Given the description of an element on the screen output the (x, y) to click on. 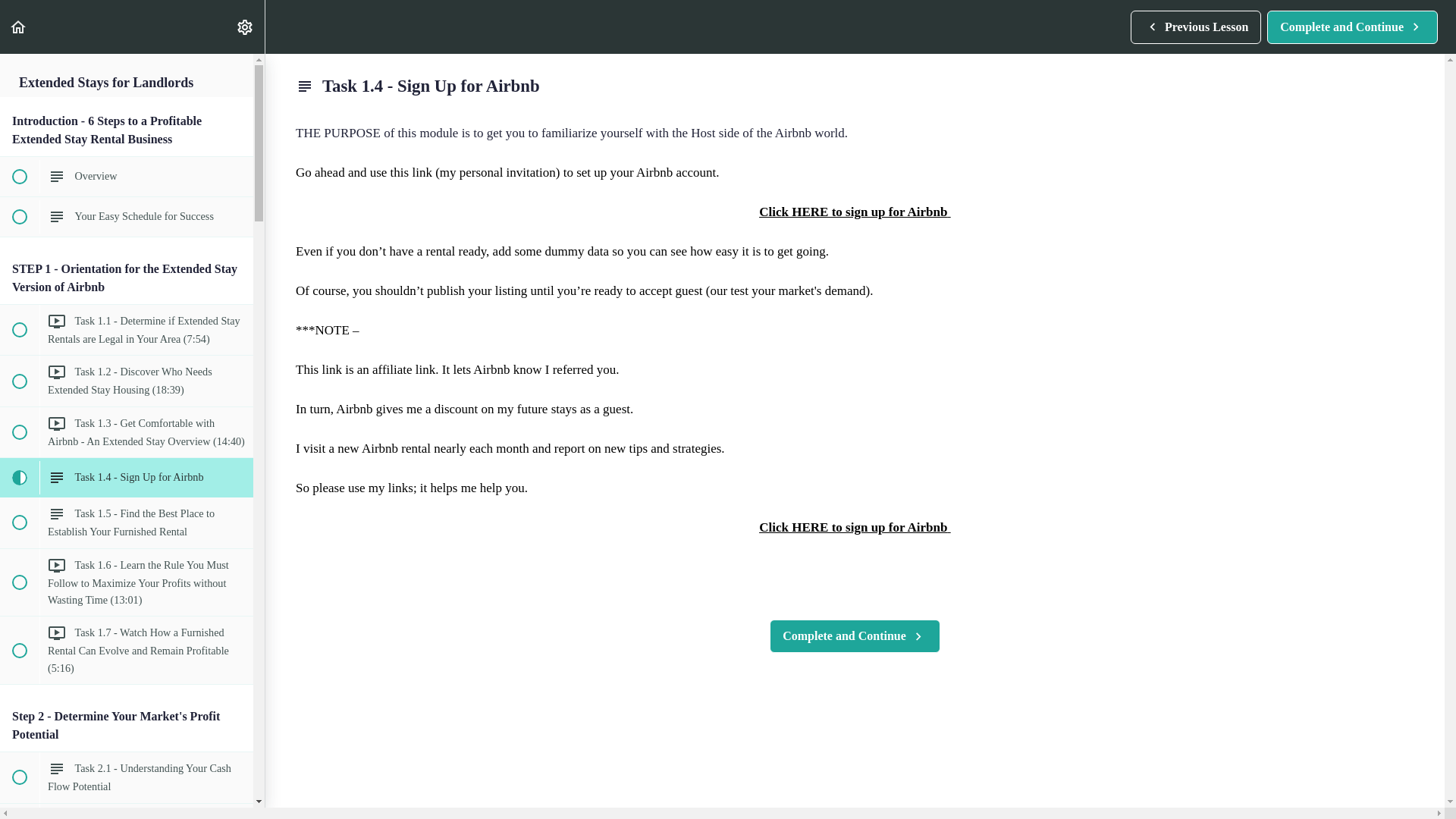
  Task 2.1 - Understanding Your Cash Flow Potential (126, 777)
  Overview (126, 176)
Back to course curriculum (17, 27)
  Your Easy Schedule for Success (1352, 27)
  Task 1.4 - Sign Up for Airbnb (126, 216)
  Previous Lesson (126, 477)
Settings Menu (1195, 27)
